Given the description of an element on the screen output the (x, y) to click on. 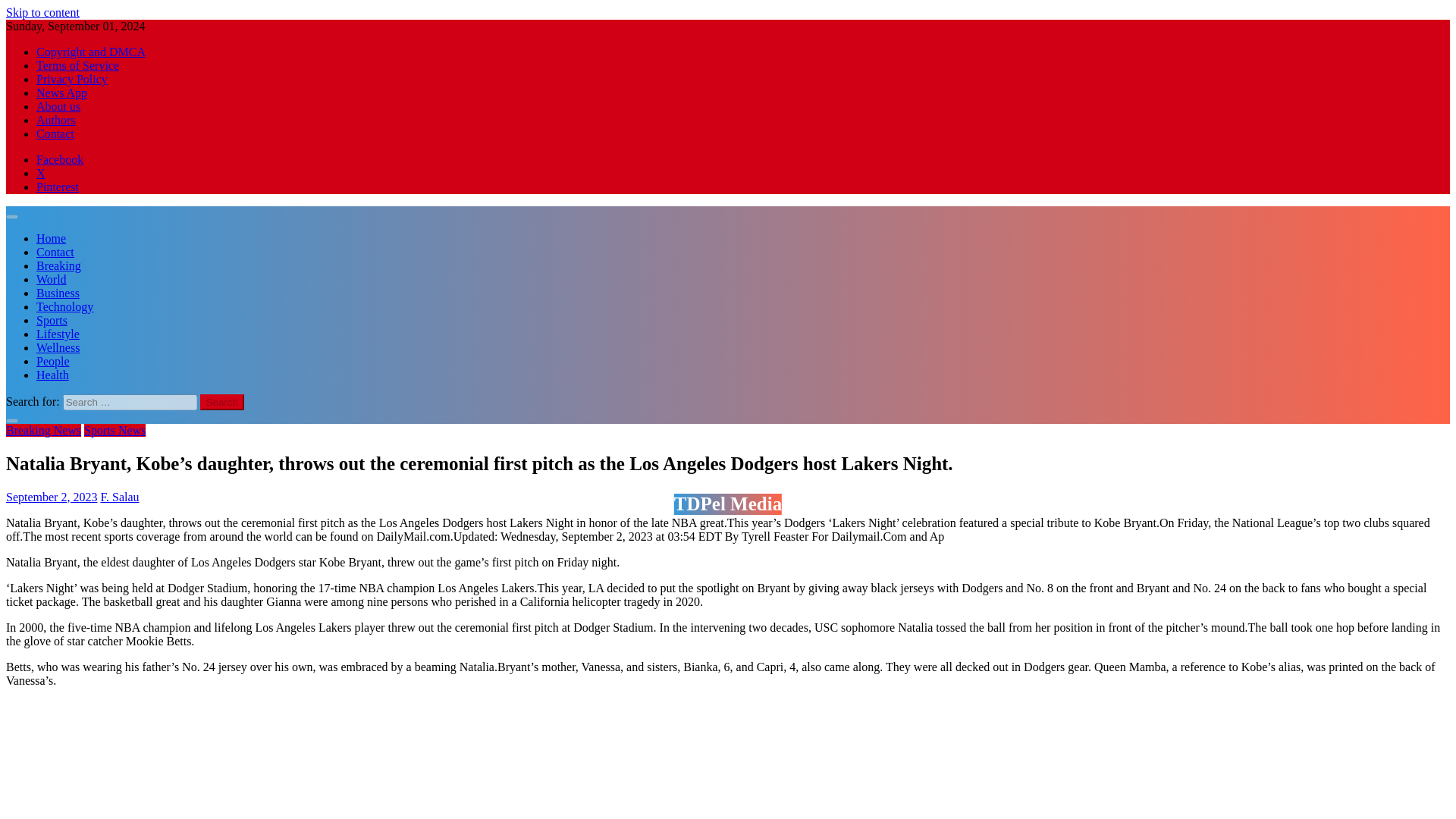
Breaking News (43, 430)
Privacy Policy (71, 78)
F. Salau (119, 495)
Technology (64, 306)
September 2, 2023 (51, 495)
Search (222, 401)
Home (50, 237)
Pinterest (57, 186)
Business (58, 292)
Sports (51, 319)
